Given the description of an element on the screen output the (x, y) to click on. 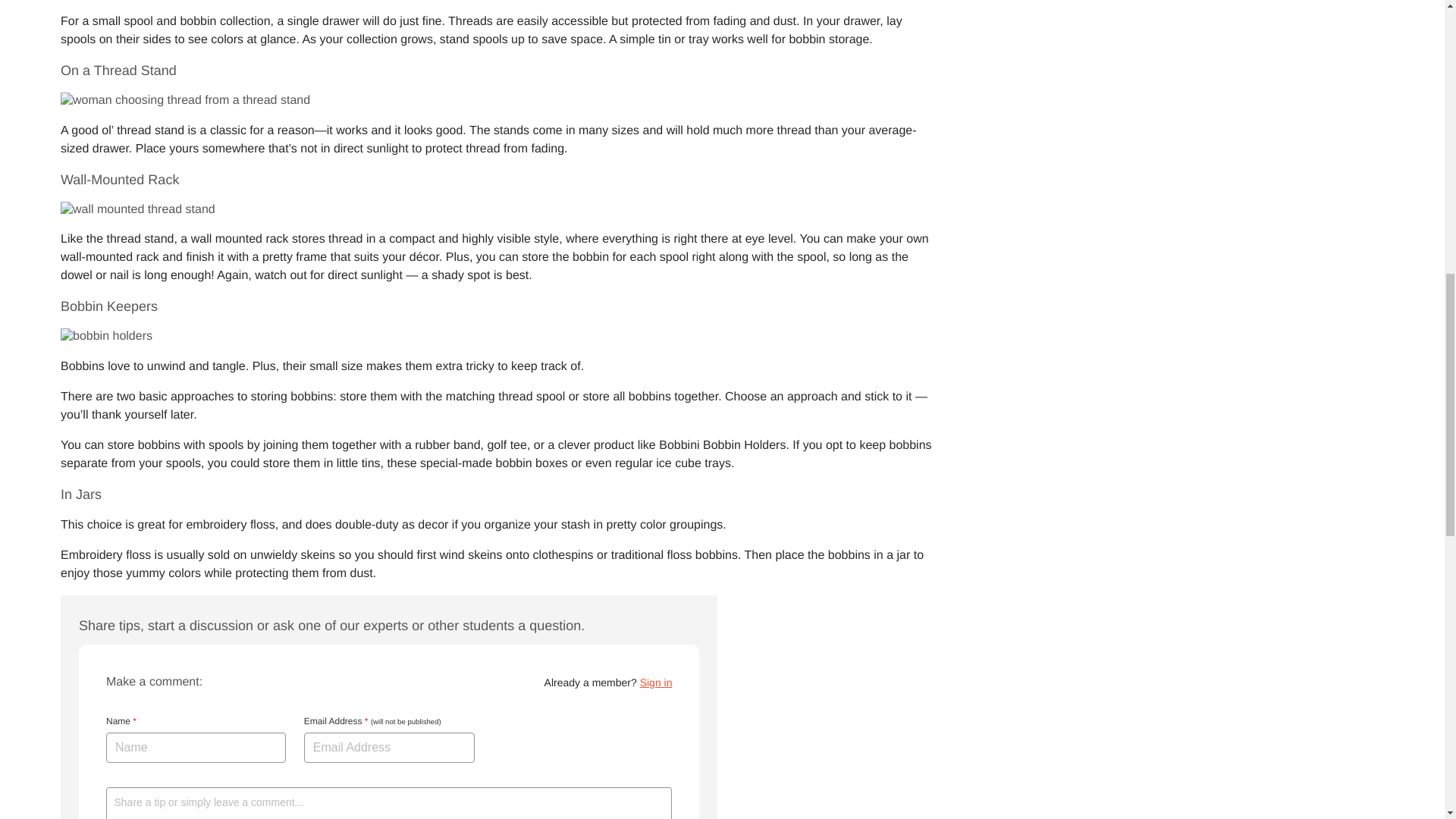
Sign in (656, 682)
